Given the description of an element on the screen output the (x, y) to click on. 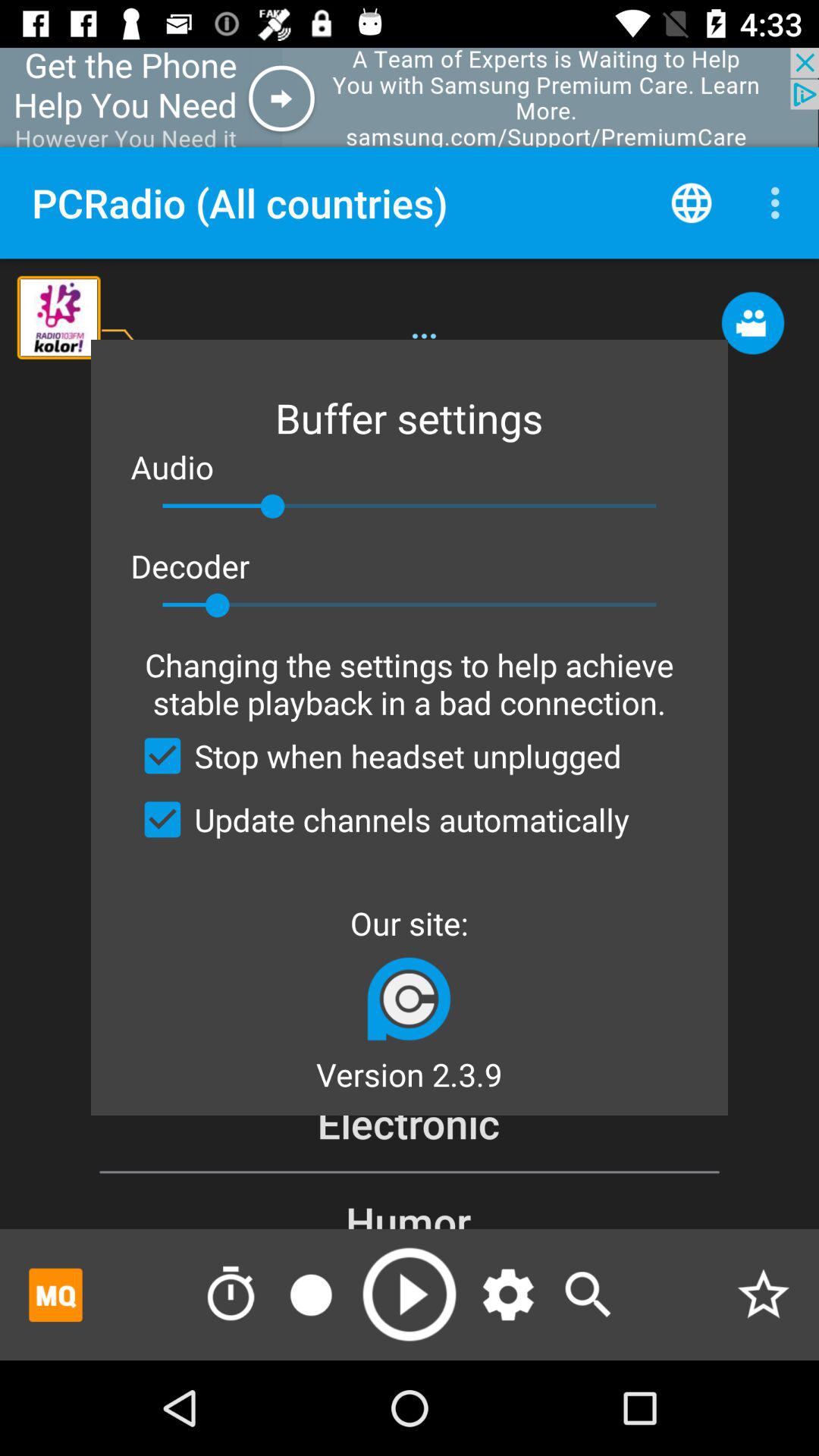
click app below the changing the settings (375, 755)
